Given the description of an element on the screen output the (x, y) to click on. 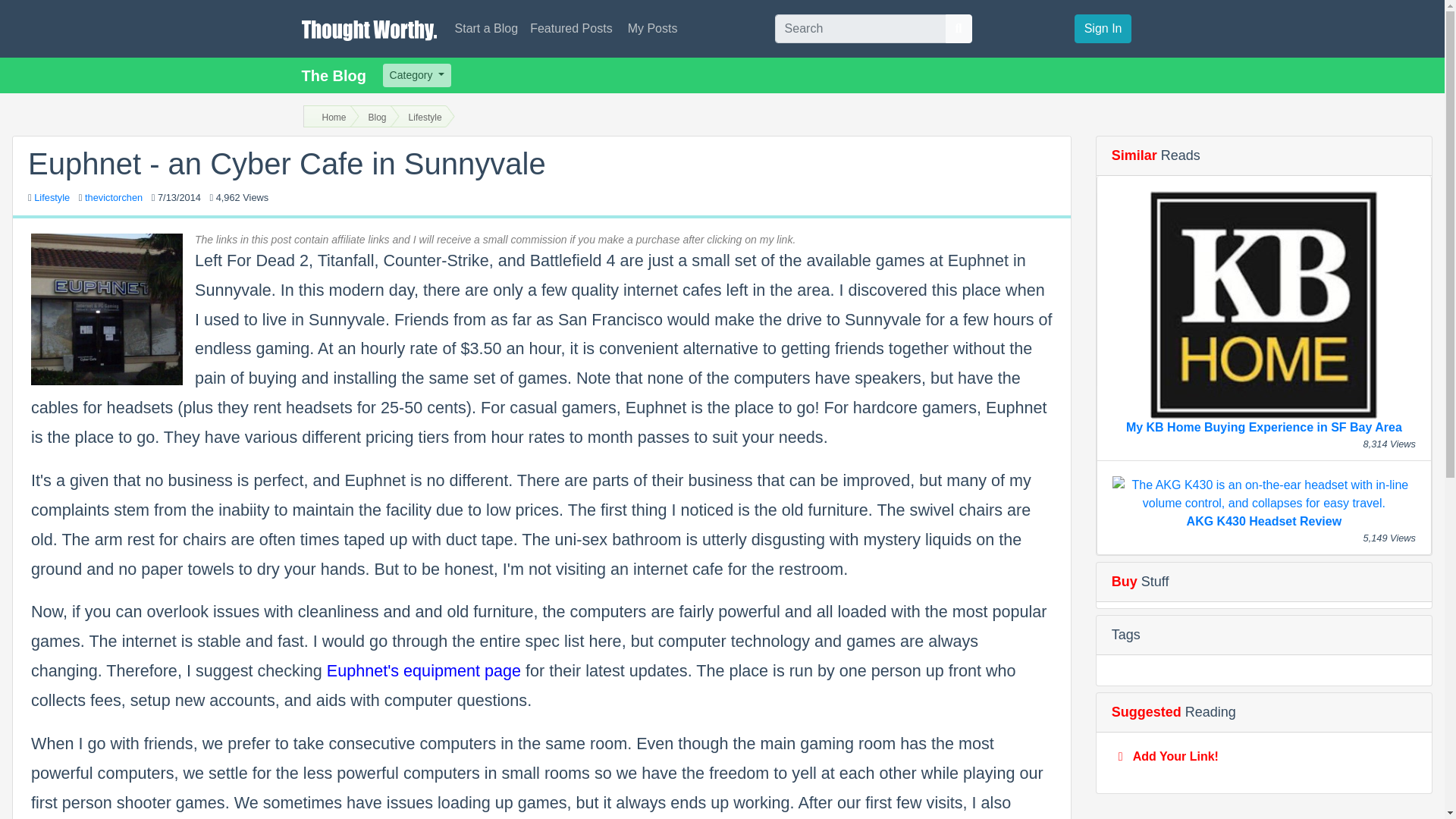
AKG K430 Headset Review (1263, 500)
My KB Home Buying Experience in SF Bay Area (1263, 310)
thevictorchen (113, 197)
Start a Blog (486, 28)
My Posts (651, 28)
Lifestyle (51, 197)
AKG K430 Headset Review (1263, 500)
Featured Posts (570, 28)
Add Your Link! (1175, 756)
Blog (373, 118)
thevictorchen (113, 197)
Lifestyle (51, 197)
Euphnet's equipment page (423, 670)
Home (330, 118)
The Blog (333, 74)
